Given the description of an element on the screen output the (x, y) to click on. 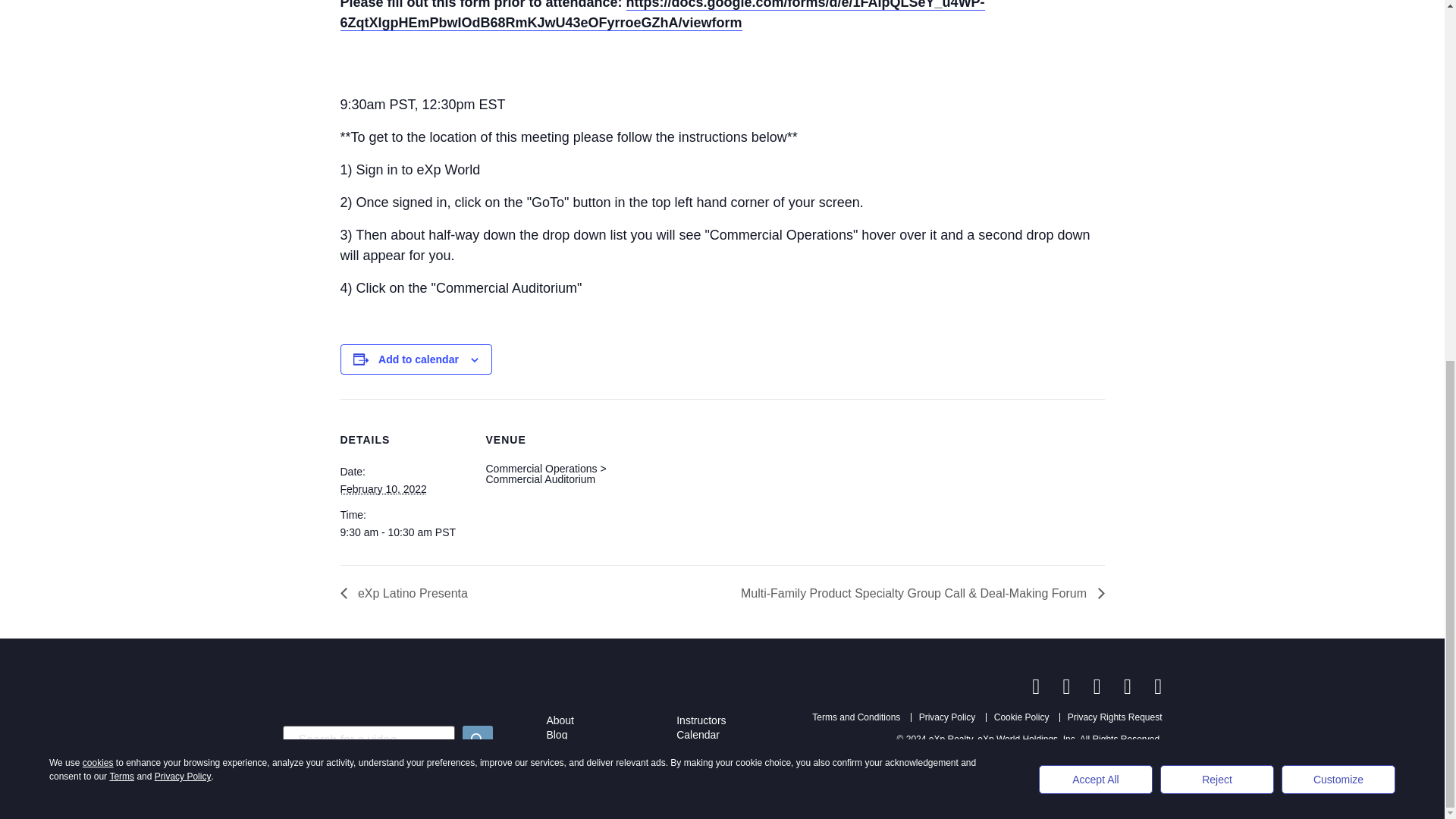
eXp Latino Presenta (407, 593)
About (559, 720)
Trainings (567, 748)
eXp World (701, 748)
Cookie Policy (1021, 716)
Calendar (698, 734)
Add to calendar (418, 358)
Calendar (698, 734)
Terms and Conditions (855, 716)
Instructors (701, 720)
2022-02-10 (403, 532)
About (559, 720)
Privacy Policy (946, 716)
Privacy Policy (946, 716)
Terms and Conditions (855, 716)
